Given the description of an element on the screen output the (x, y) to click on. 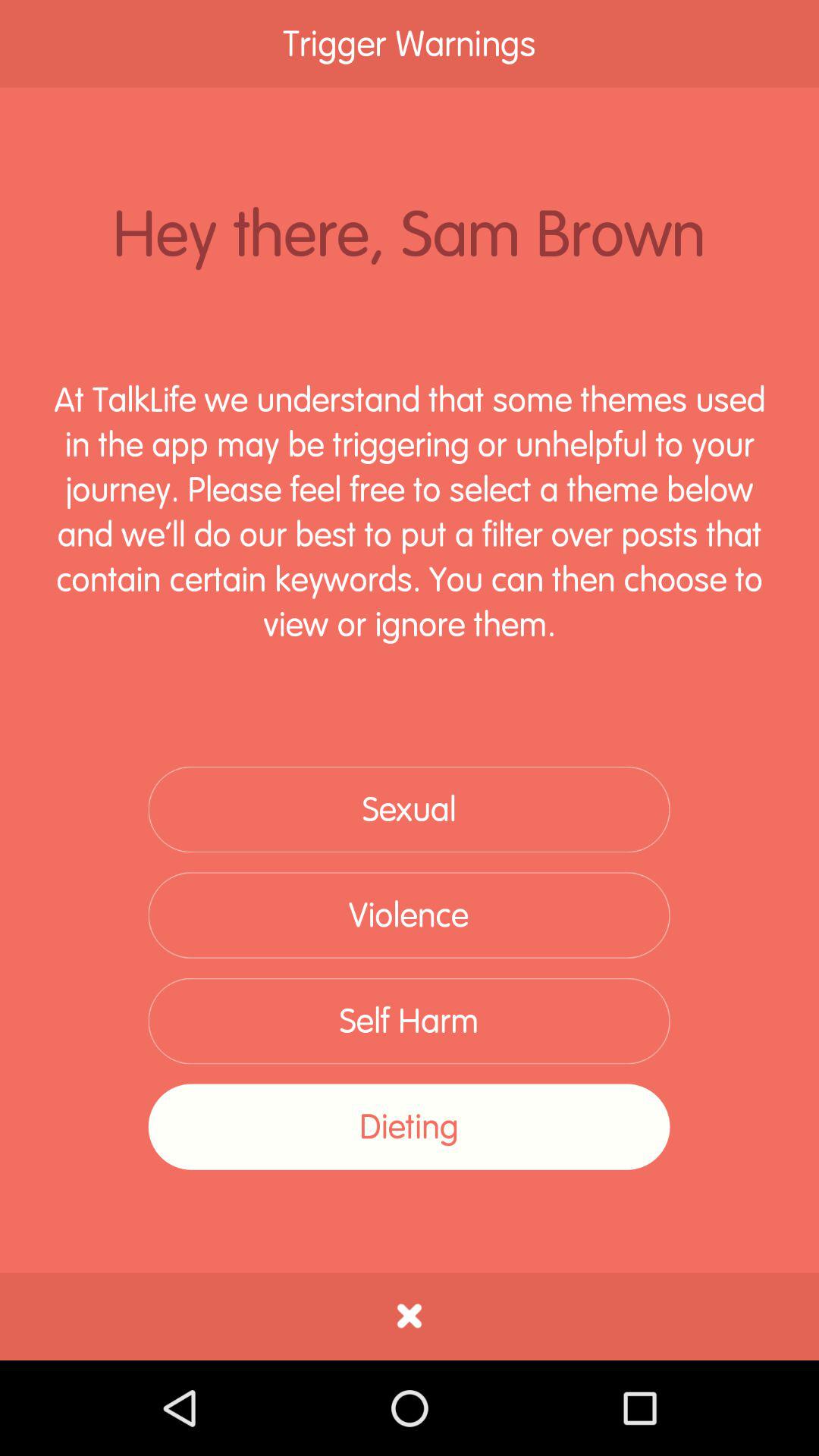
flip until the dieting icon (408, 1126)
